Given the description of an element on the screen output the (x, y) to click on. 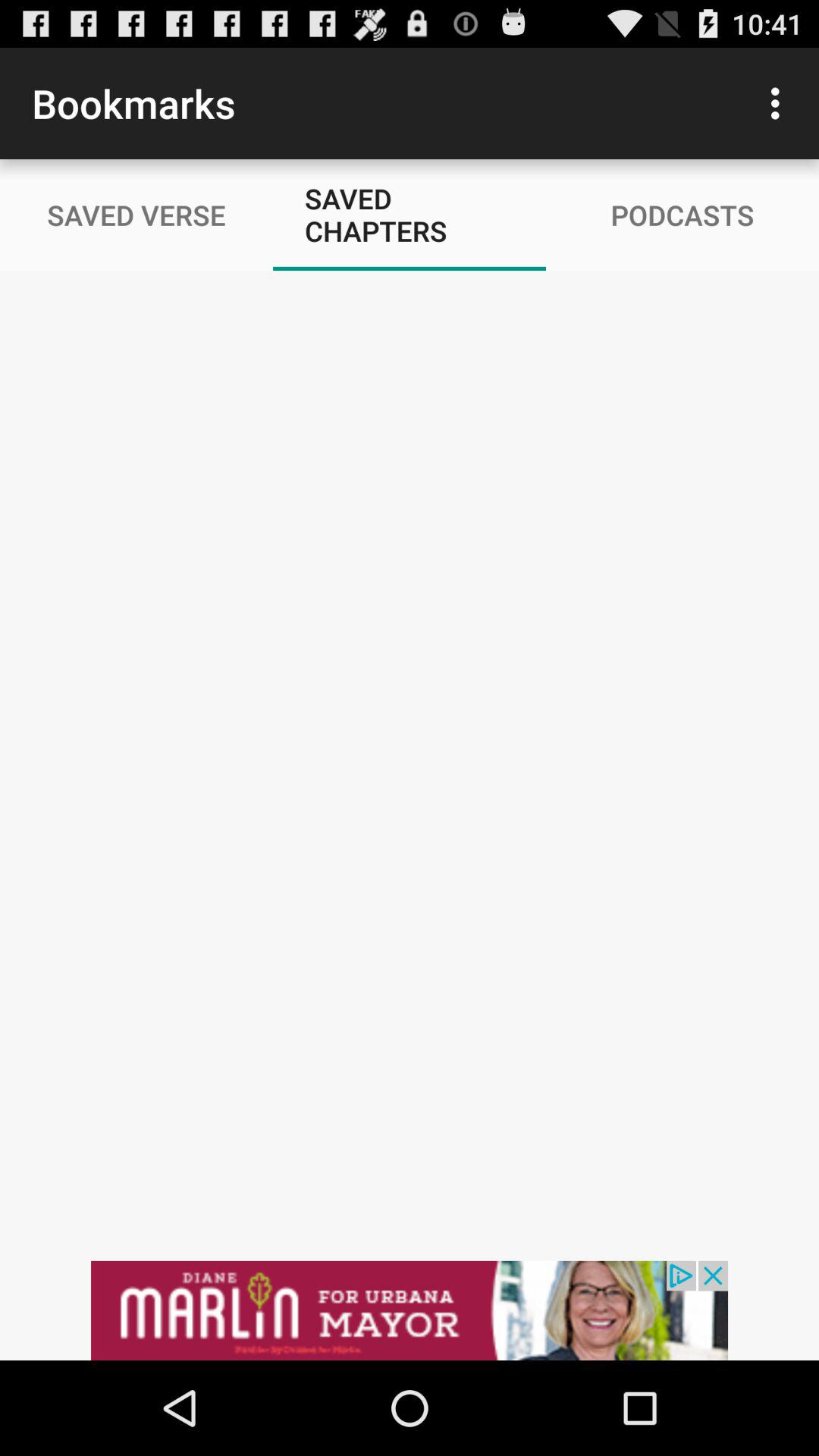
advertisement (409, 1310)
